Given the description of an element on the screen output the (x, y) to click on. 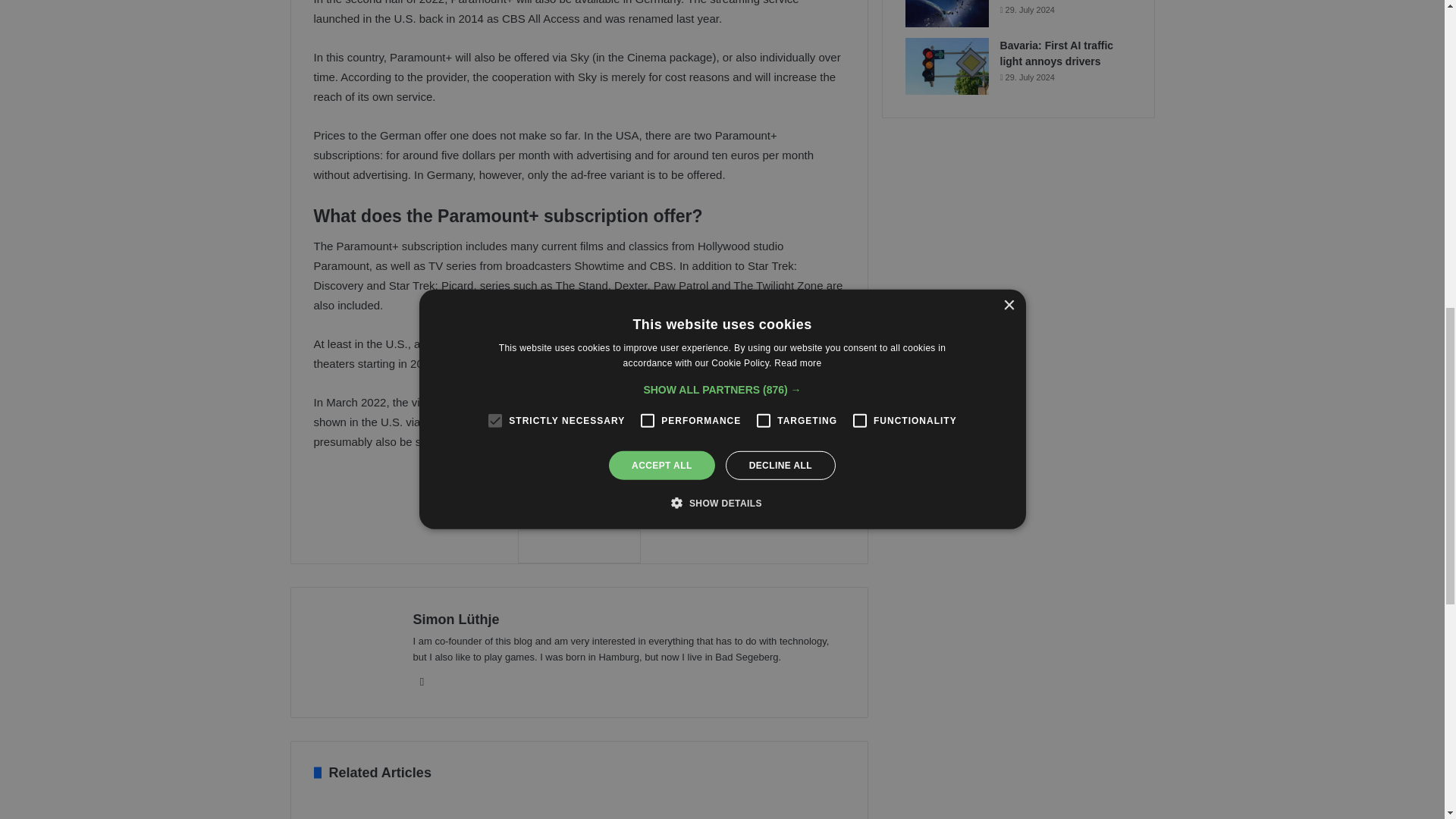
Streaming (630, 492)
Google News (578, 546)
LinkedIn (421, 681)
